Given the description of an element on the screen output the (x, y) to click on. 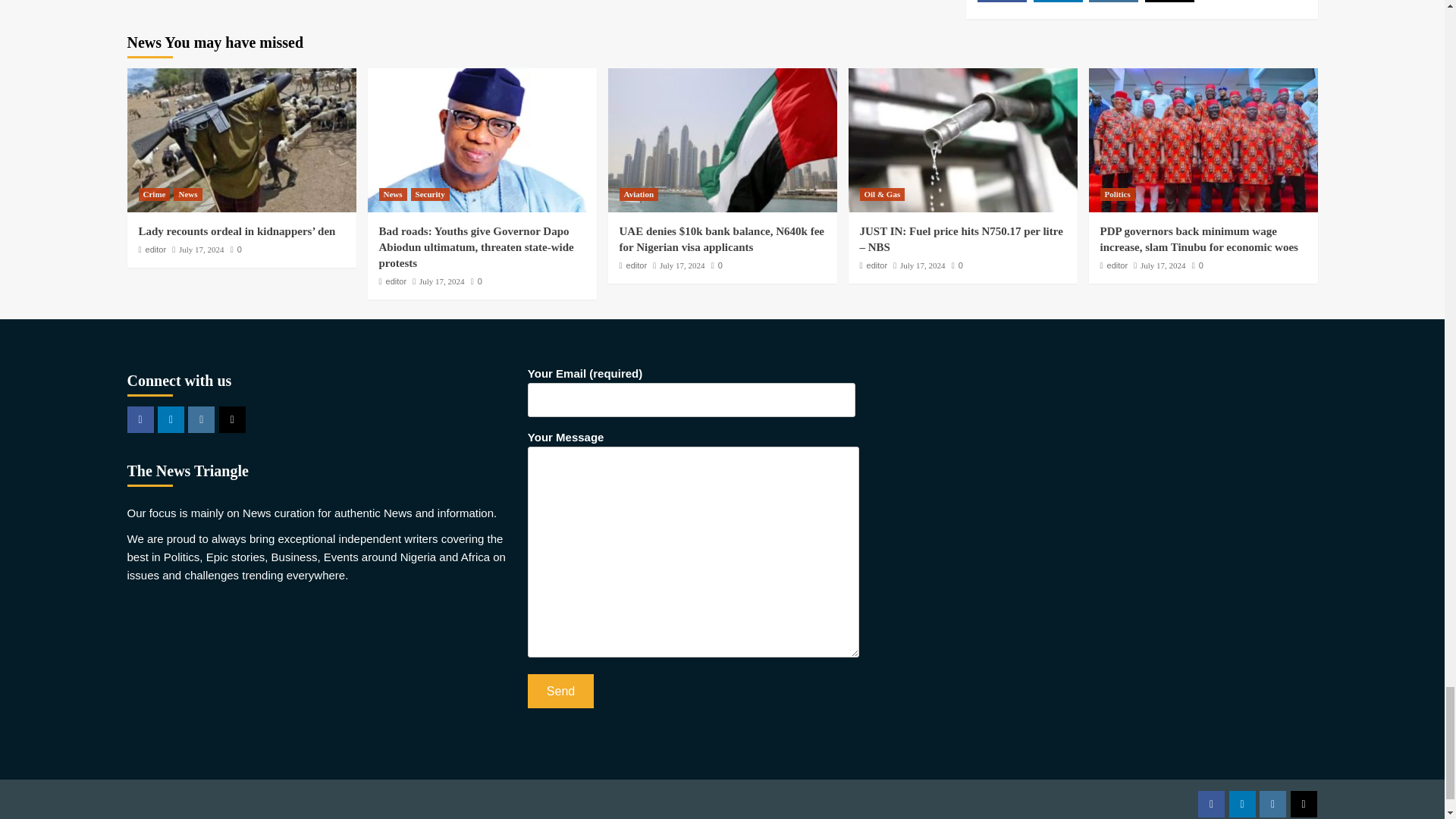
Send (560, 691)
